Given the description of an element on the screen output the (x, y) to click on. 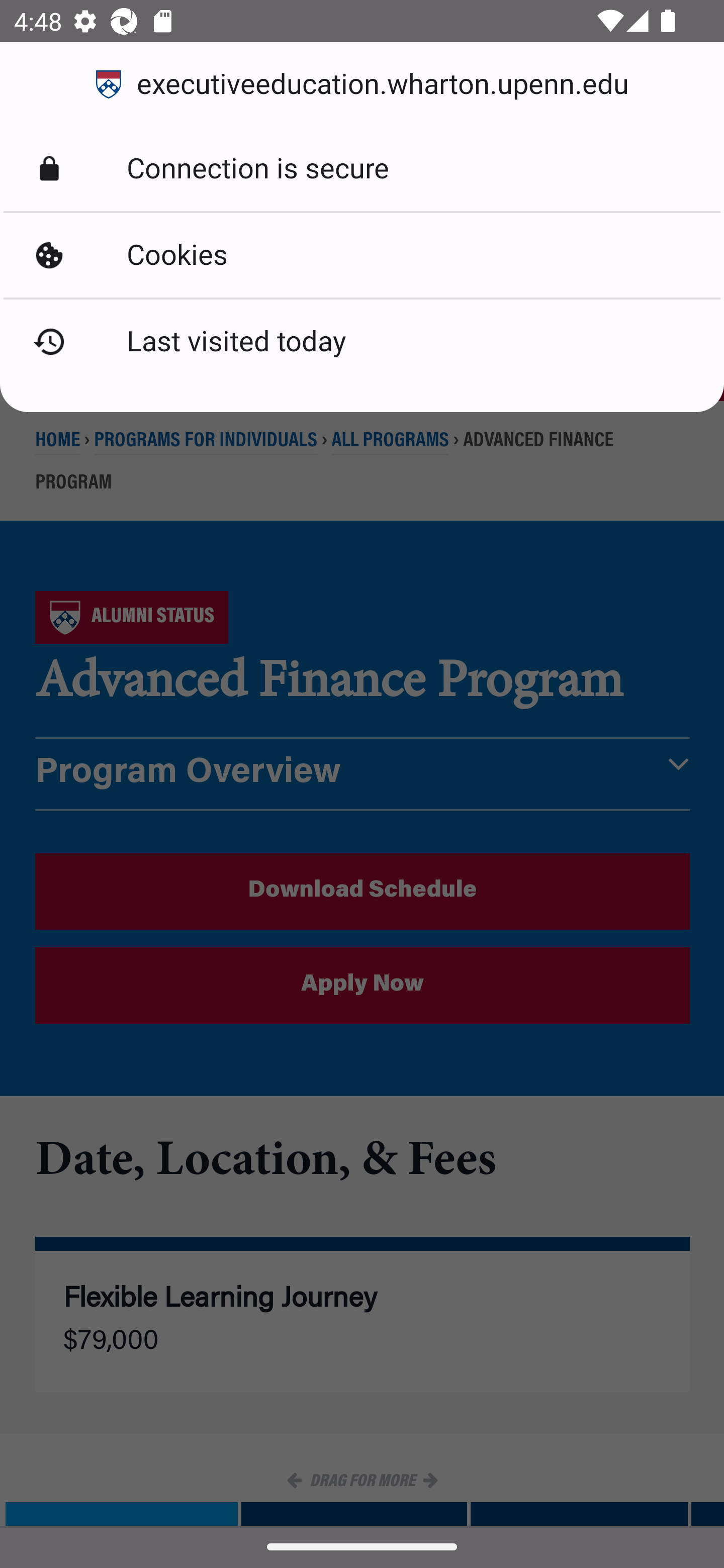
executiveeducation.wharton.upenn.edu (362, 84)
Connection is secure (362, 169)
Cookies (362, 255)
Last visited today (362, 341)
